Given the description of an element on the screen output the (x, y) to click on. 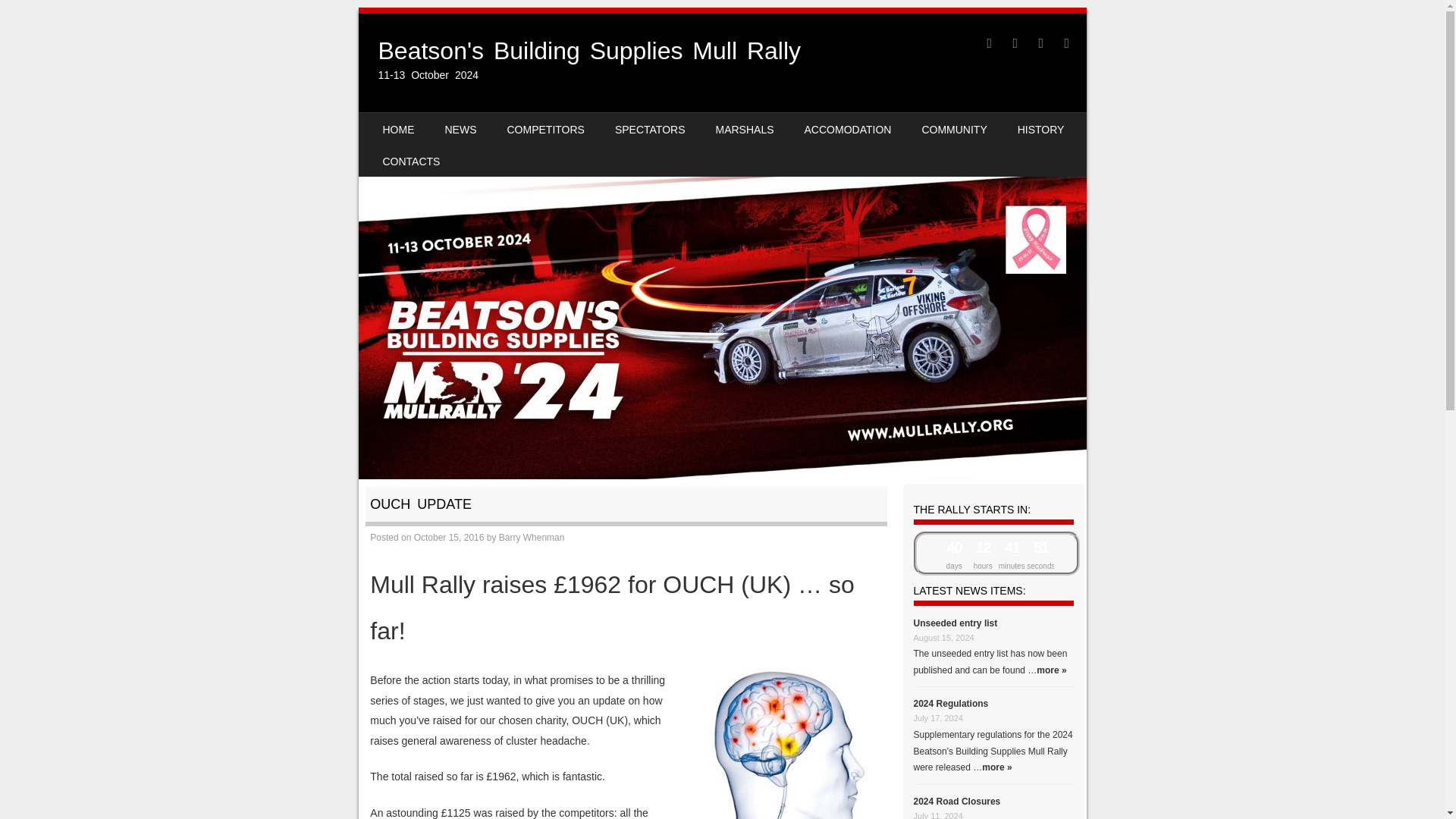
SPECTATORS (649, 128)
NEWS (460, 128)
Skip to content (405, 122)
View all posts by Barry Whenman (531, 537)
SKIP TO CONTENT (405, 122)
Barry Whenman (531, 537)
HISTORY (1041, 128)
HOME (397, 128)
October 15, 2016 (448, 537)
